Given the description of an element on the screen output the (x, y) to click on. 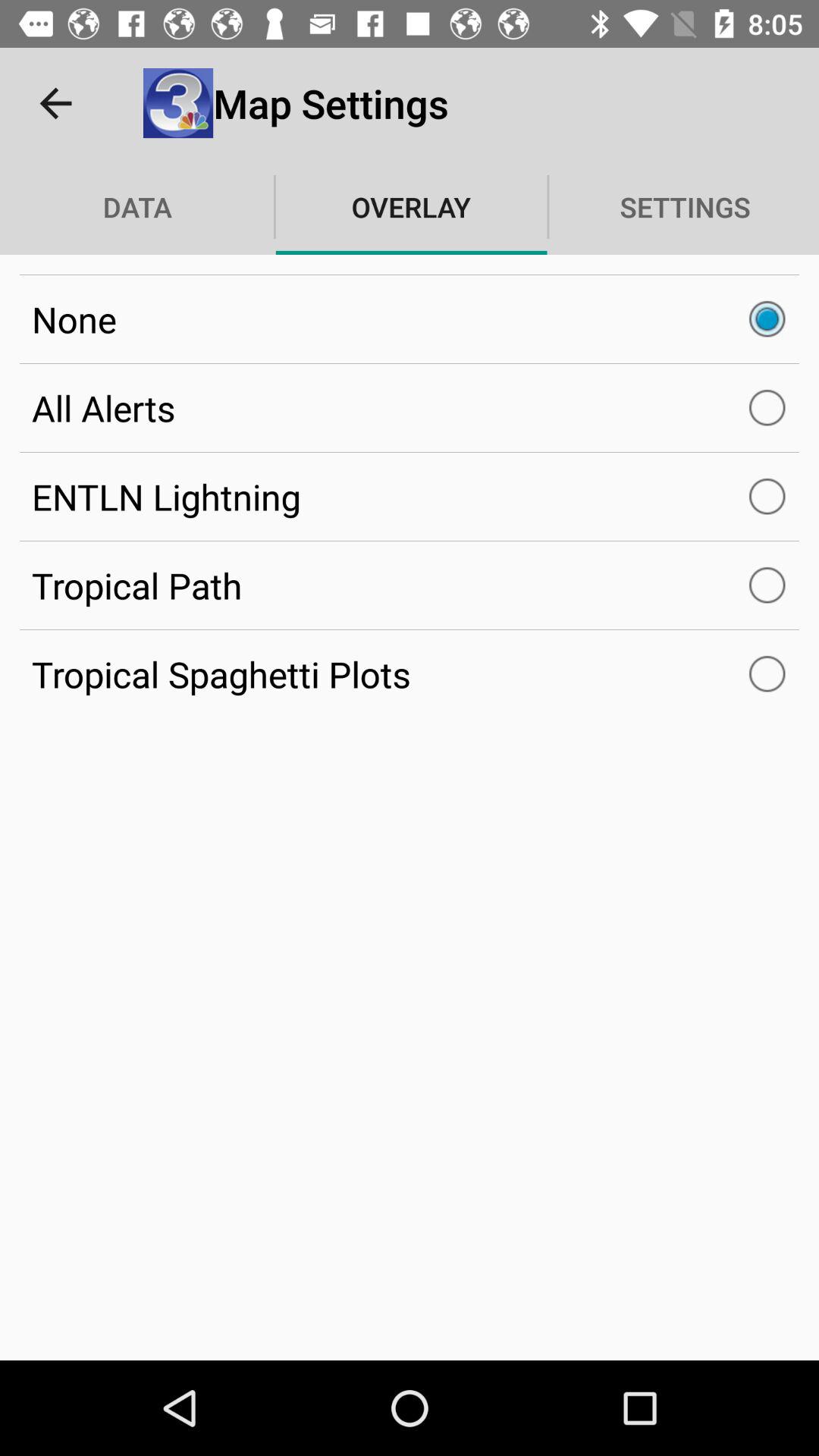
press the item above data (55, 103)
